Given the description of an element on the screen output the (x, y) to click on. 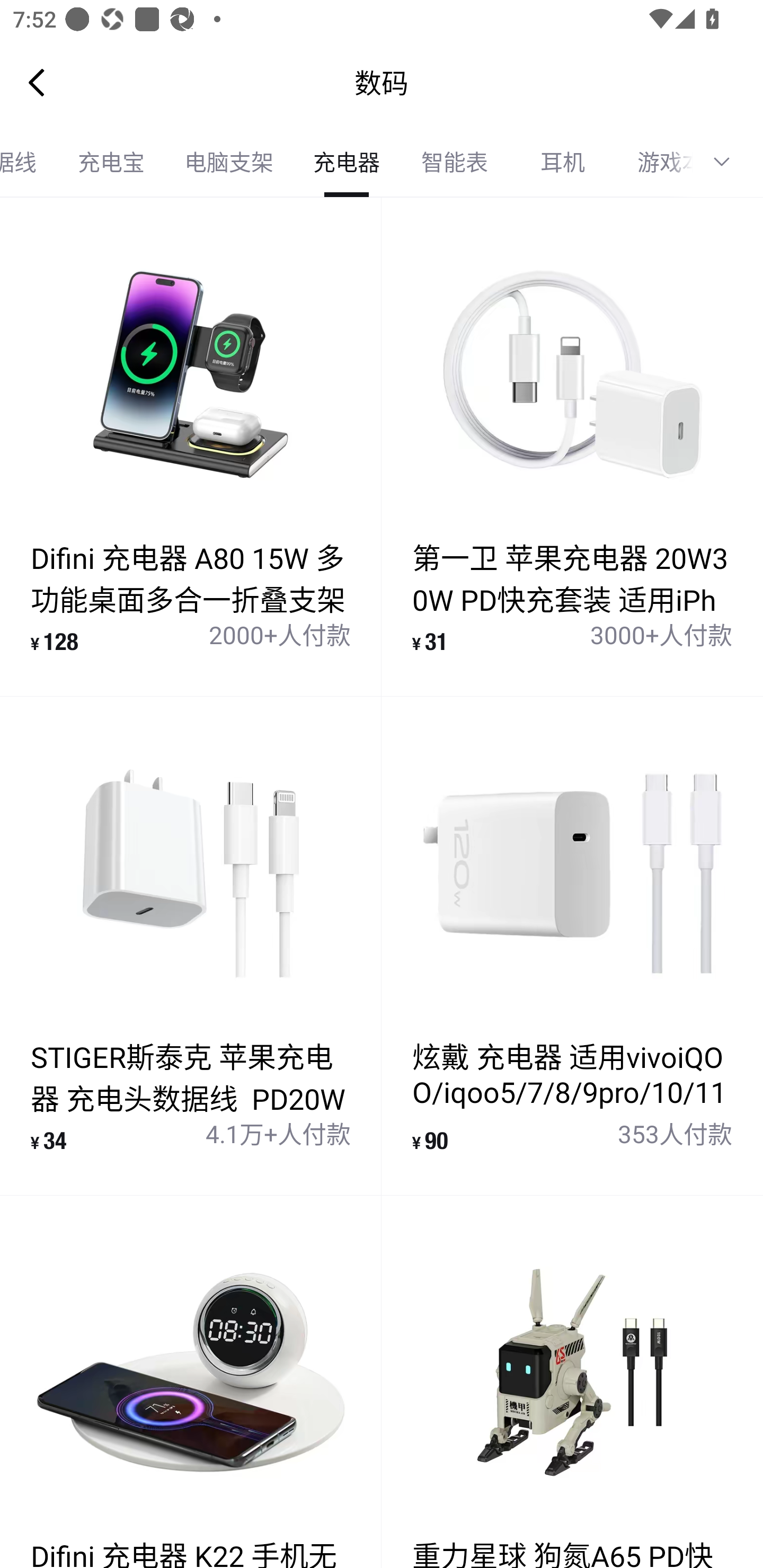
Navigate up (36, 82)
充电宝 (111, 162)
电脑支架 (228, 162)
充电器 (346, 162)
智能表 (454, 162)
耳机 (562, 162)
 (727, 162)
